Given the description of an element on the screen output the (x, y) to click on. 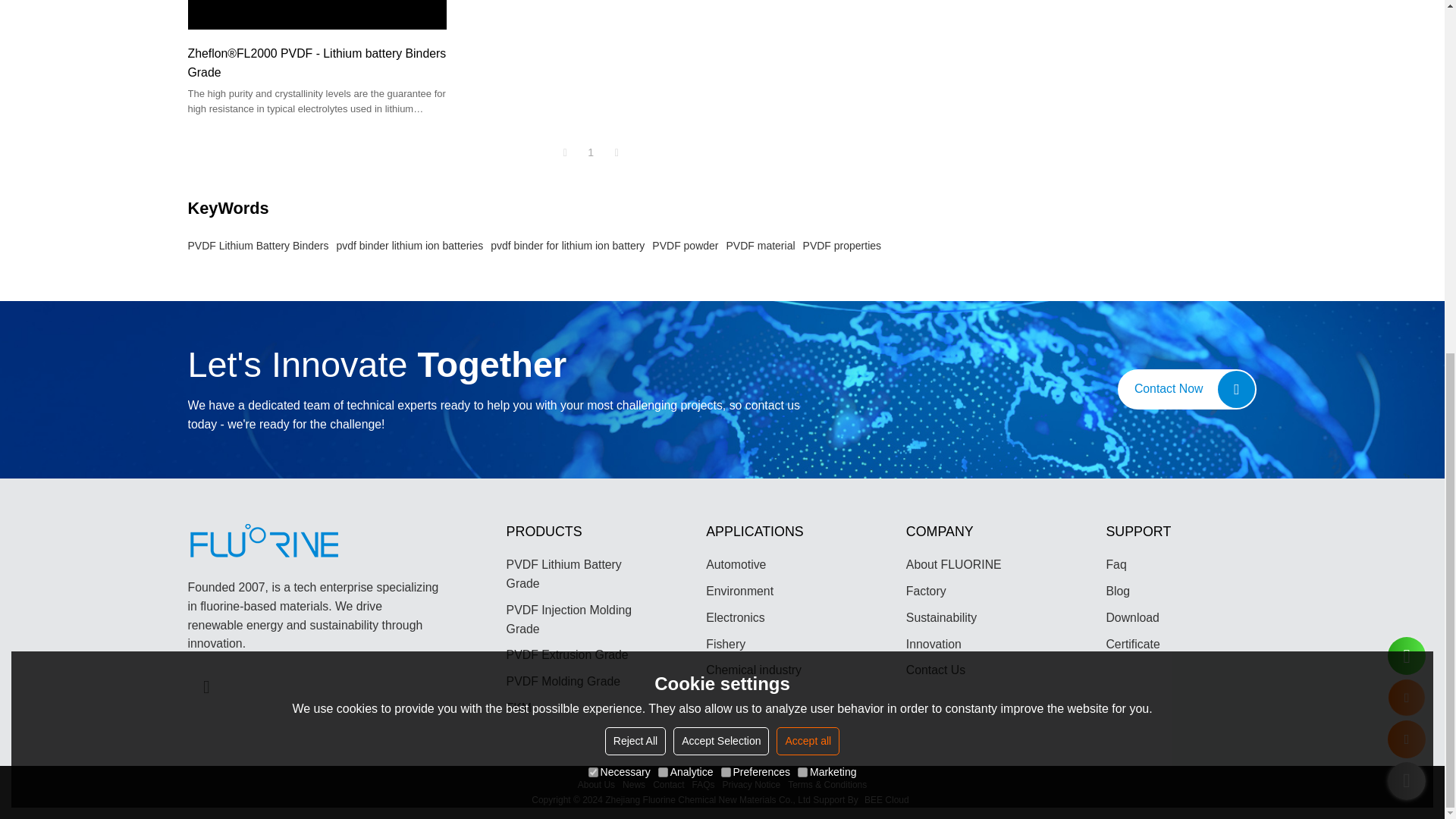
on (593, 154)
on (802, 154)
on (725, 154)
on (663, 154)
